Given the description of an element on the screen output the (x, y) to click on. 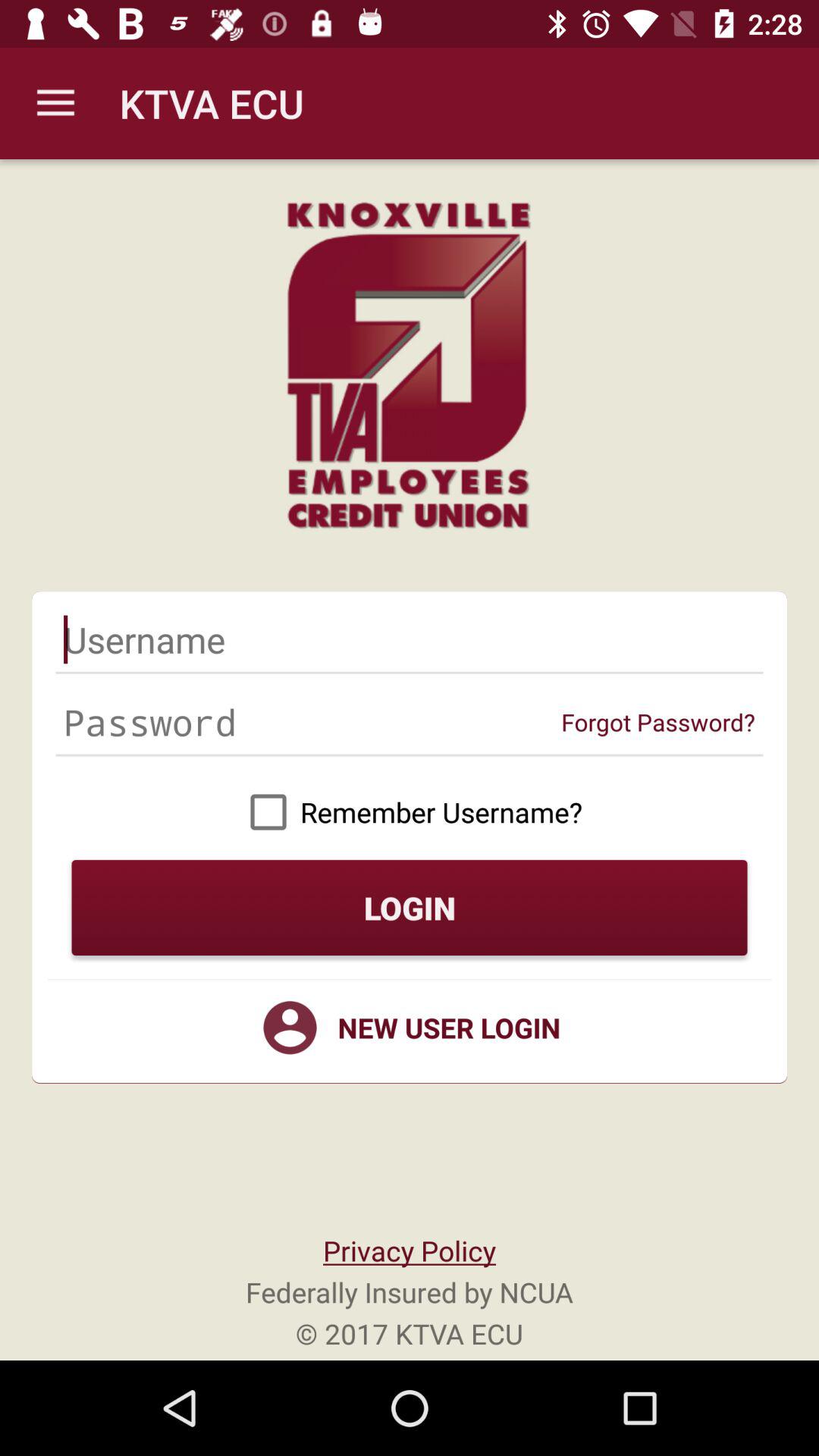
swipe to privacy policy (409, 1250)
